Given the description of an element on the screen output the (x, y) to click on. 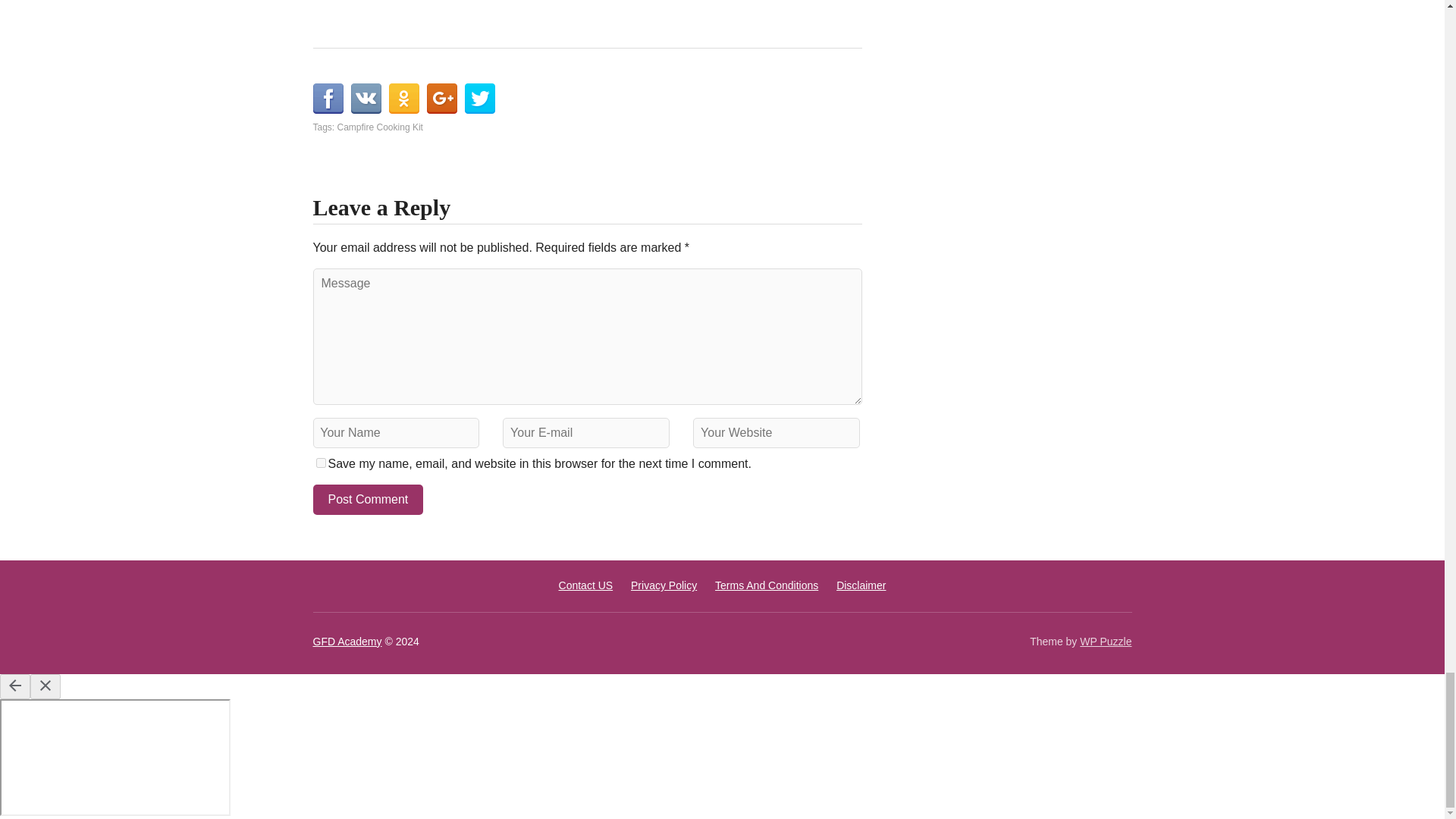
Campfire Cooking Kit (380, 127)
Post Comment (368, 499)
yes (319, 462)
Post Comment (368, 499)
